Given the description of an element on the screen output the (x, y) to click on. 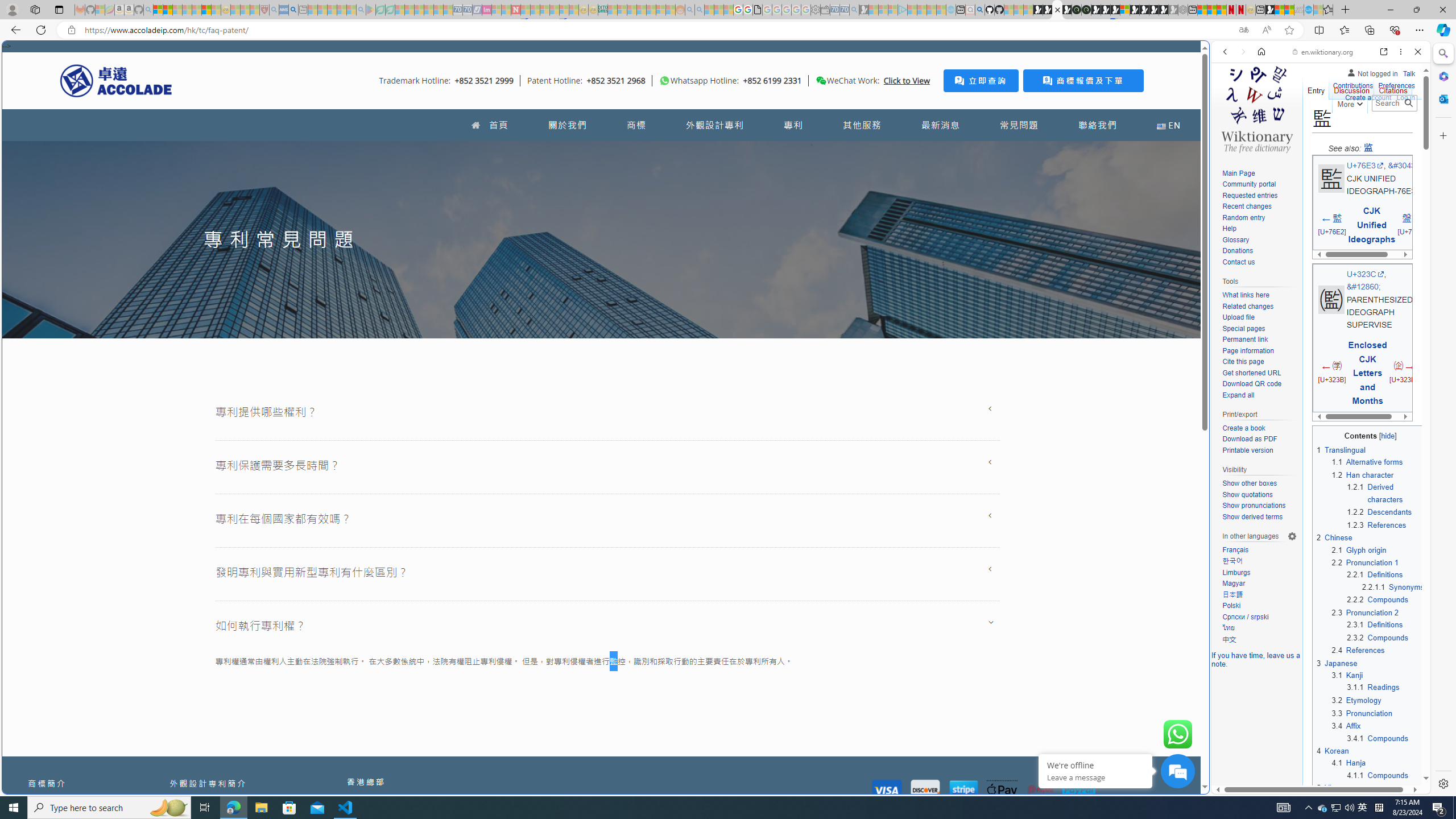
2.2.1.1Synonyms (1393, 586)
Donations (1237, 250)
